Given the description of an element on the screen output the (x, y) to click on. 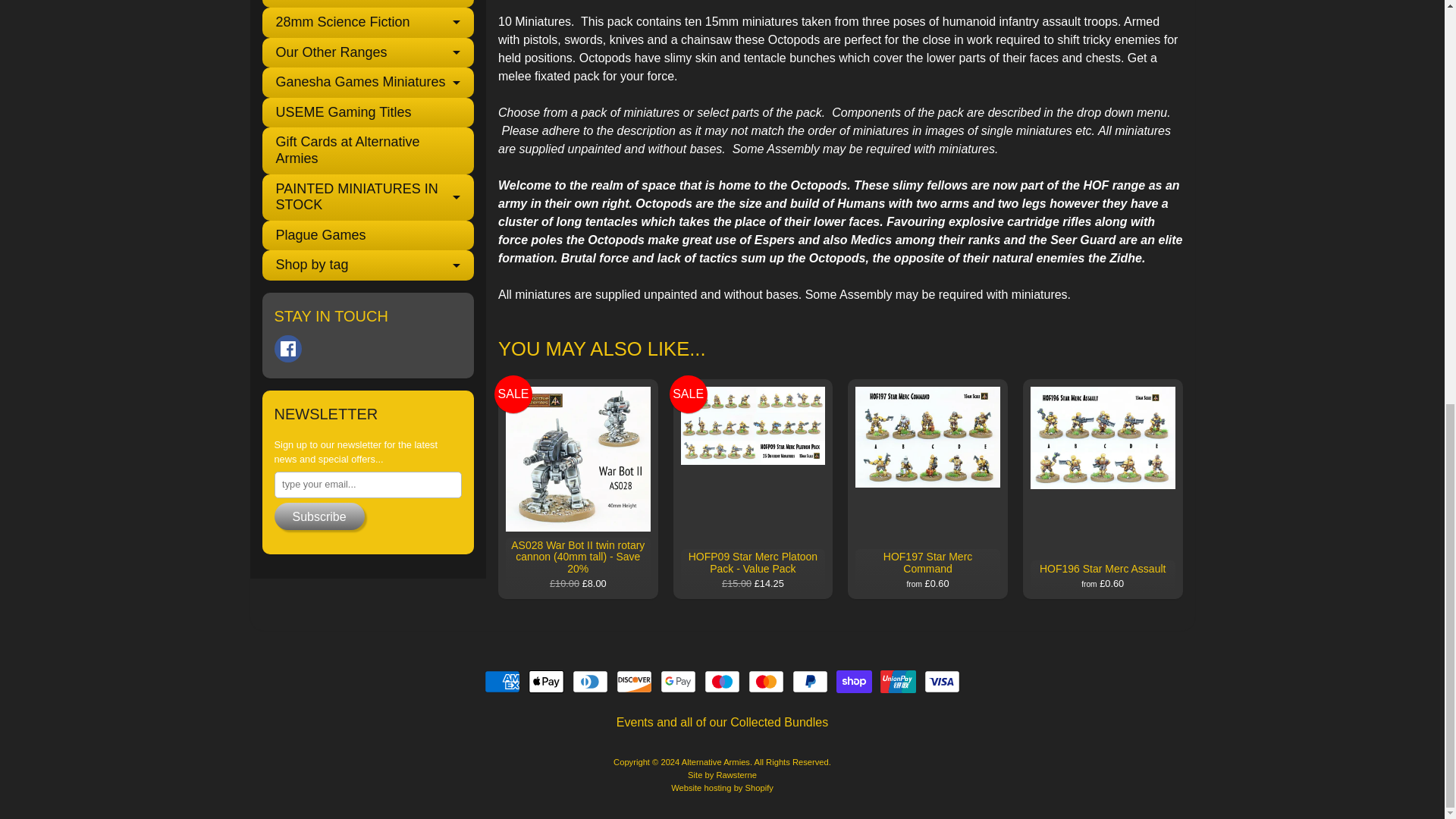
Facebook (288, 348)
Shopify theme by Rawsterne (722, 774)
